Given the description of an element on the screen output the (x, y) to click on. 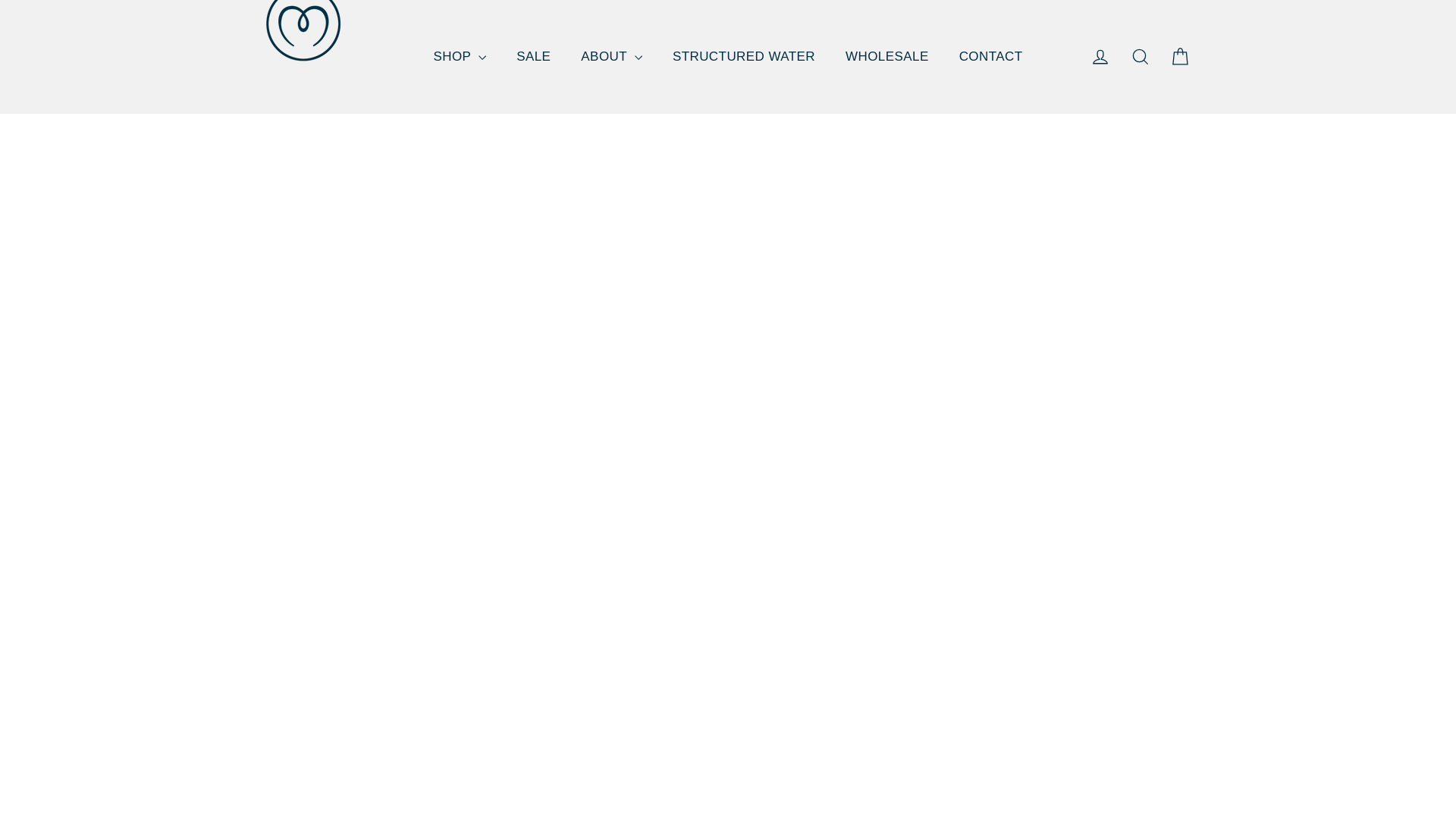
account (1099, 56)
icon-search (1140, 56)
